Given the description of an element on the screen output the (x, y) to click on. 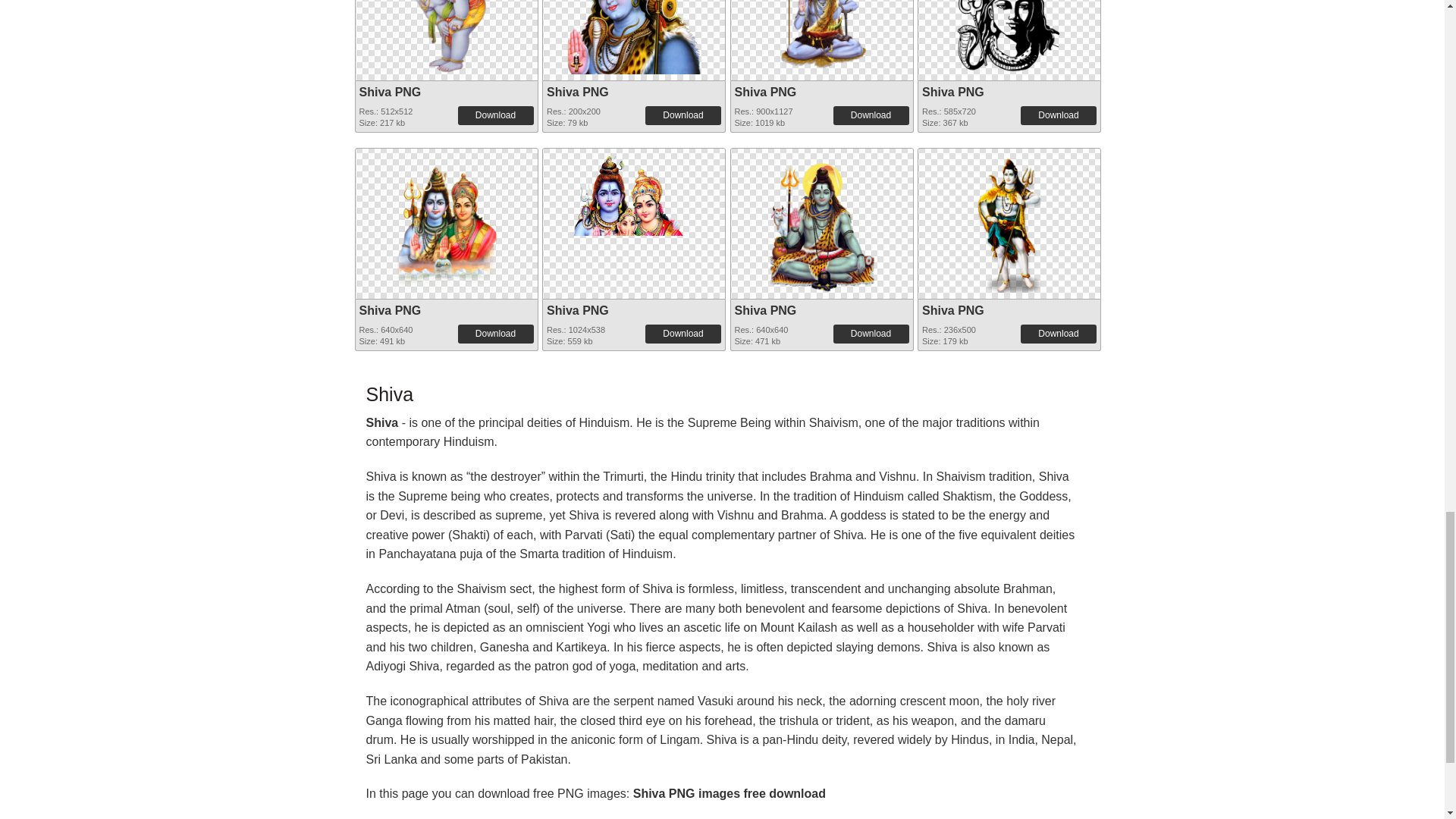
Shiva PNG (633, 37)
Shiva PNG (821, 4)
Shiva PNG (577, 91)
Shiva PNG (445, 37)
Shiva PNG (445, 4)
Download (682, 115)
Shiva PNG (952, 91)
Shiva PNG (821, 37)
Download (870, 115)
Download (496, 115)
Shiva PNG (390, 91)
Download (1058, 115)
Shiva PNG (764, 91)
Shiva PNG (633, 4)
